Given the description of an element on the screen output the (x, y) to click on. 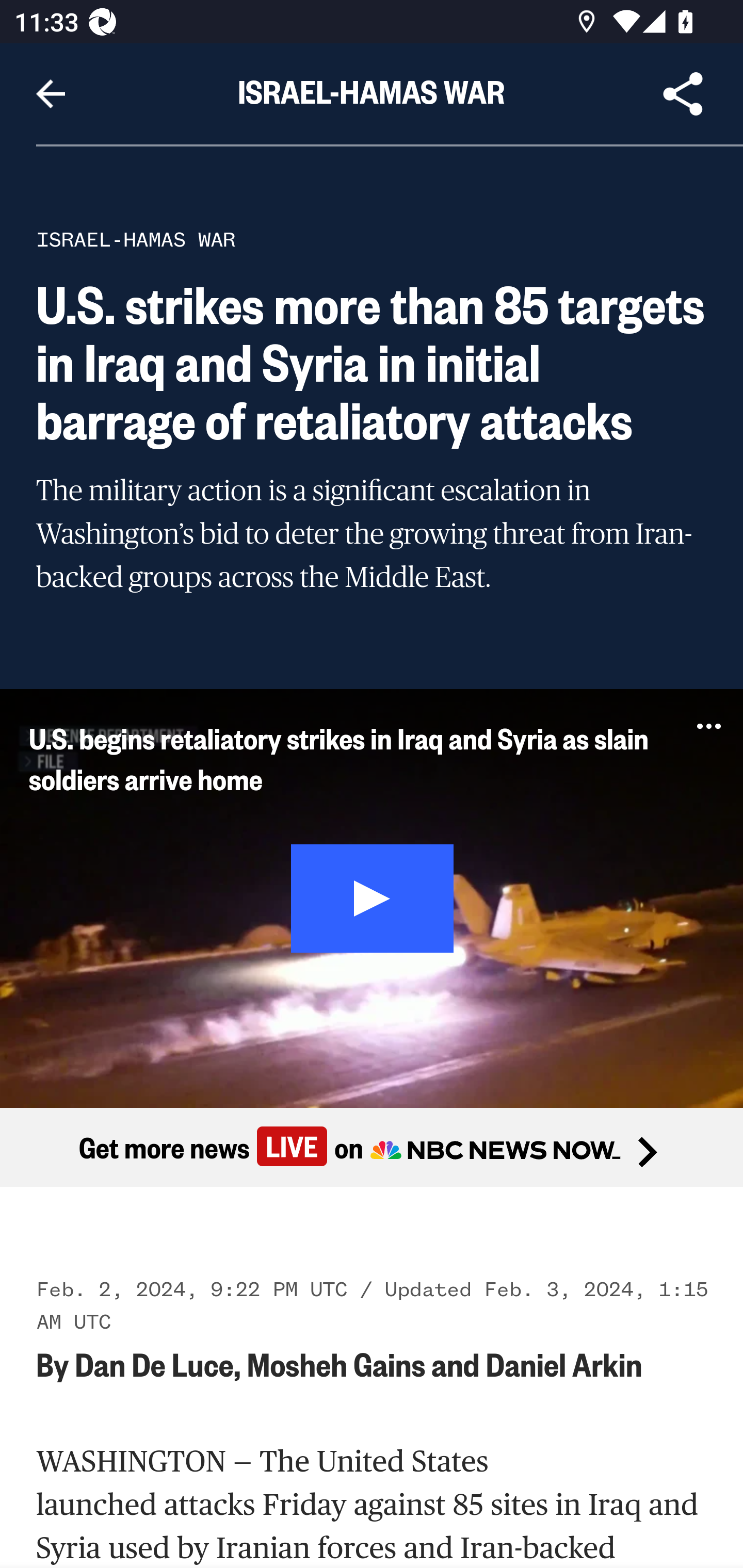
Navigate up (50, 93)
Share Article, button (683, 94)
ISRAEL-HAMAS WAR (136, 239)
Get more news Live on Get more news Live on (371, 1147)
